Given the description of an element on the screen output the (x, y) to click on. 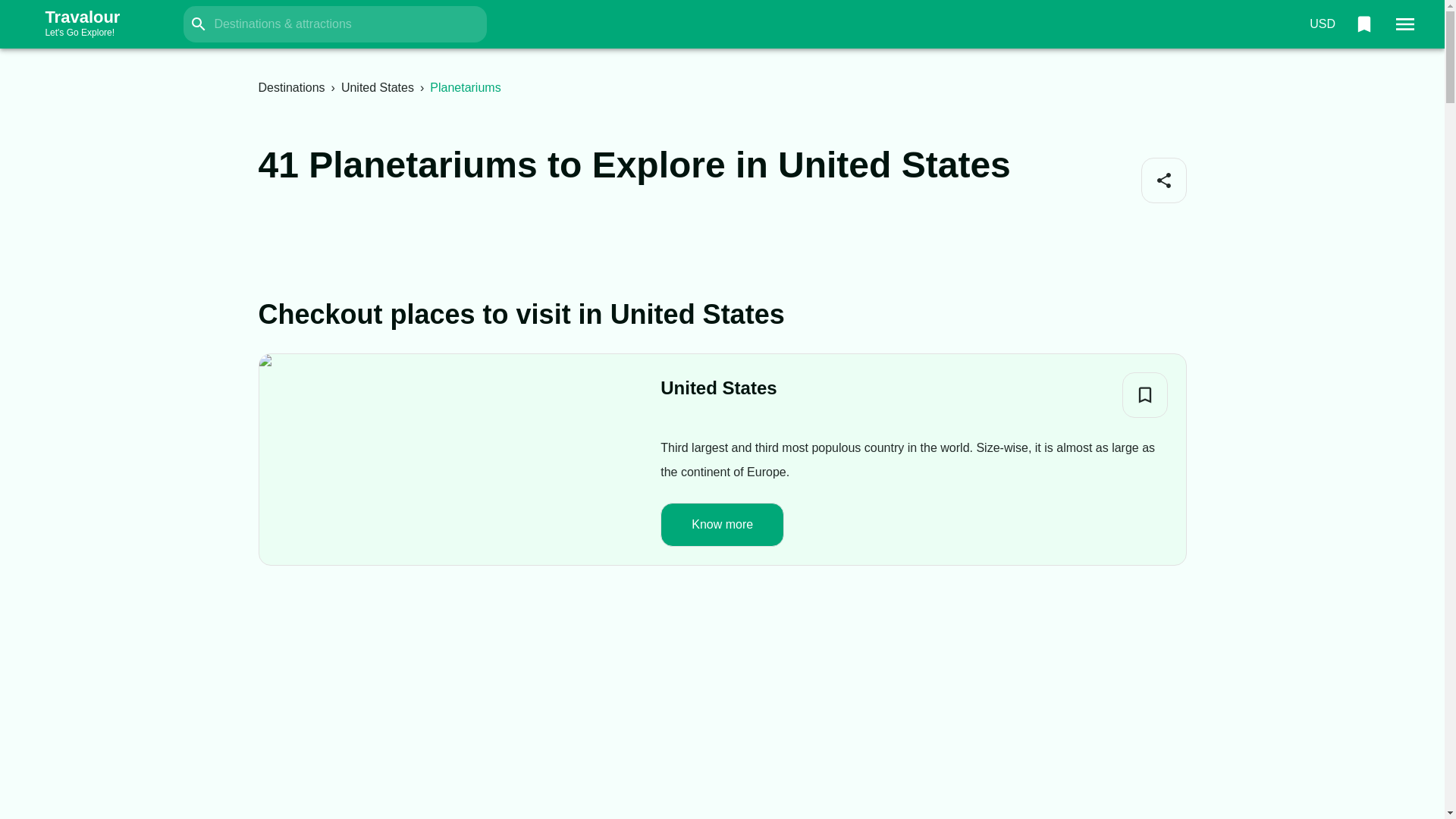
0 (1363, 24)
USD (1321, 23)
Know more (722, 523)
Add to Bucket List (1144, 394)
United States (718, 388)
Destinations (97, 23)
Share (290, 87)
United States (1163, 180)
